Given the description of an element on the screen output the (x, y) to click on. 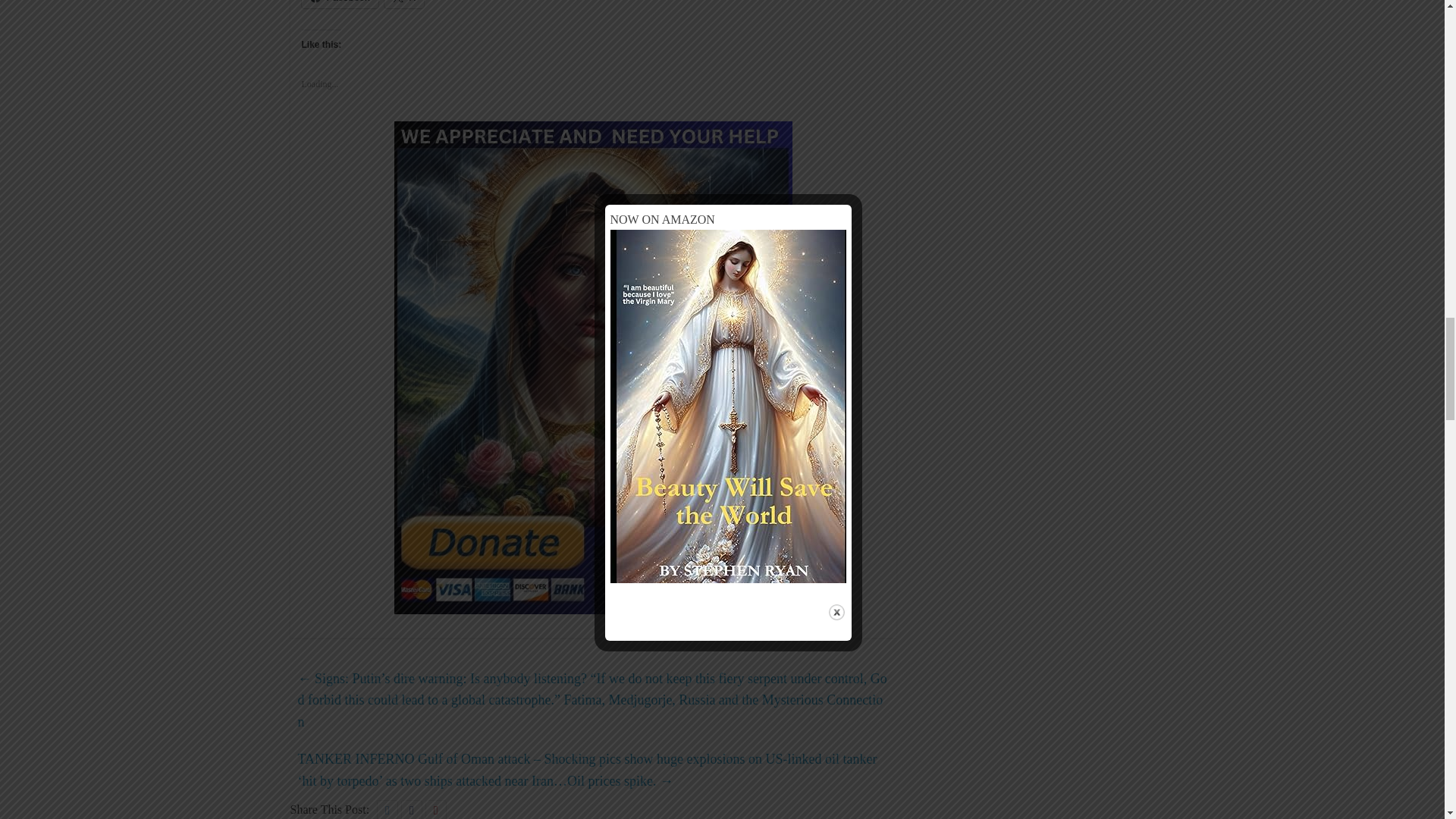
Facebook (339, 4)
Click to share on Facebook (339, 4)
Click to share on X (404, 4)
X (404, 4)
